Given the description of an element on the screen output the (x, y) to click on. 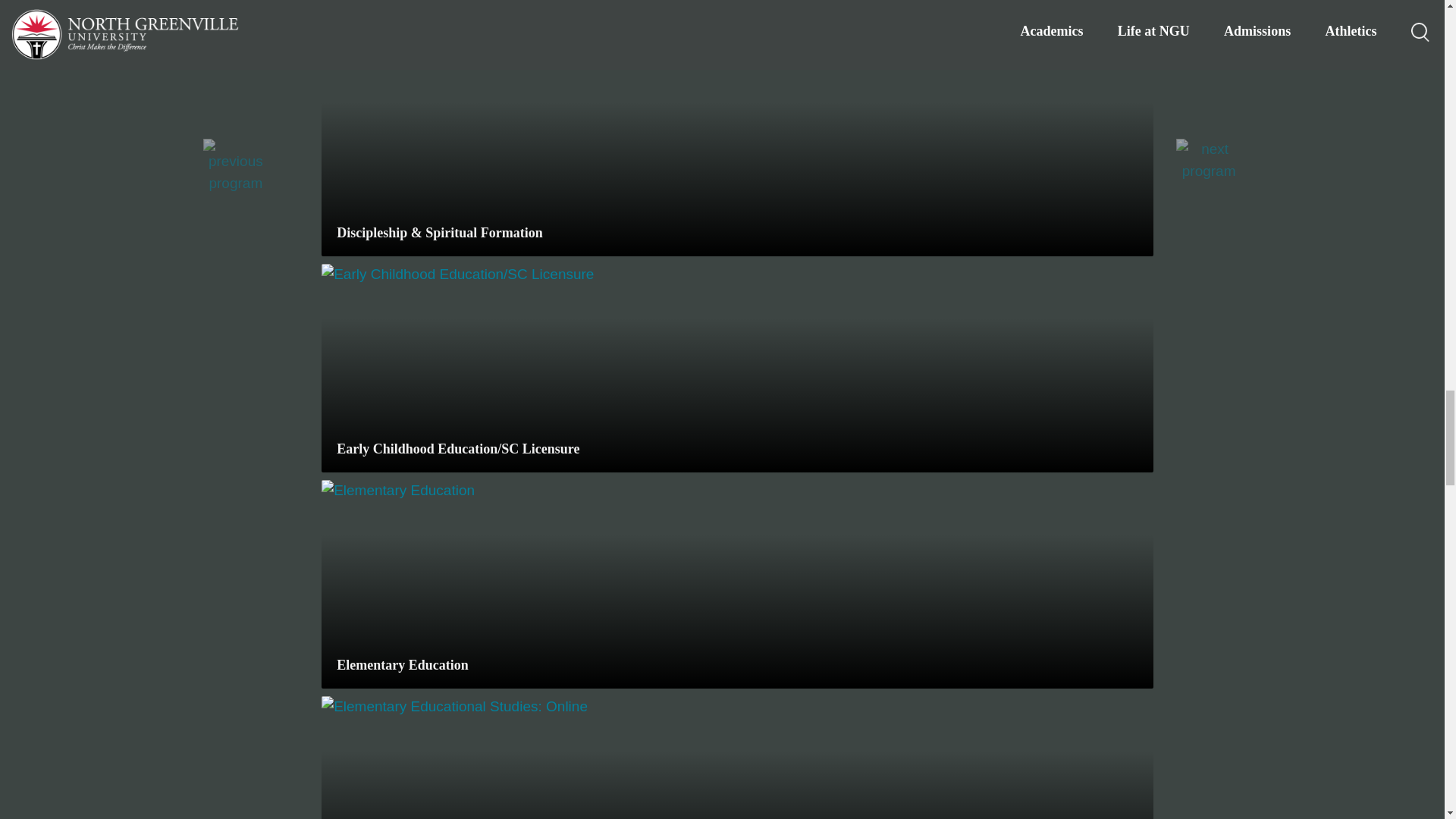
go to next program (1208, 159)
go to previous program (236, 165)
